Given the description of an element on the screen output the (x, y) to click on. 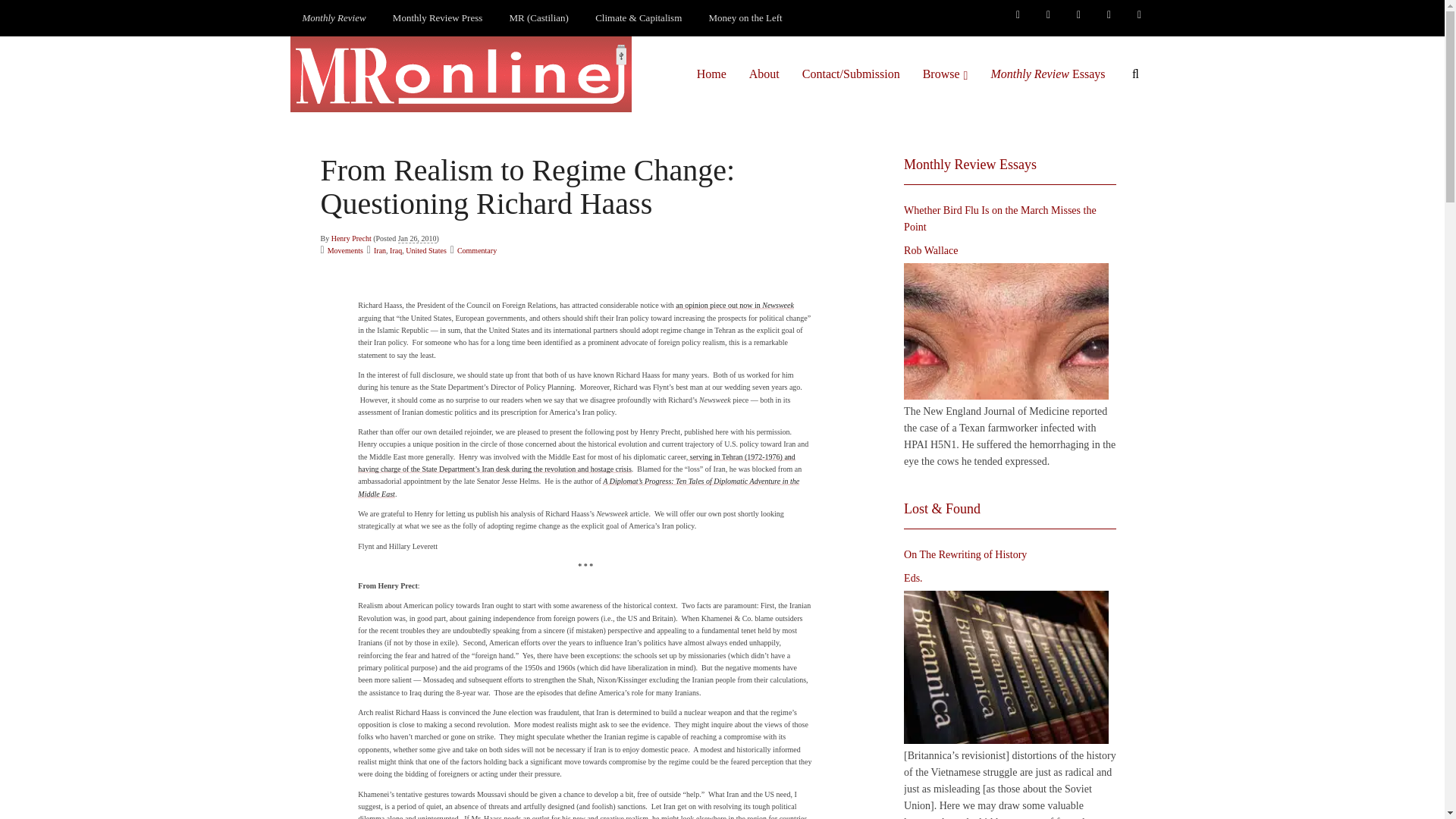
Money on the Left (745, 18)
Monthly Review (333, 18)
Posts by Eds. (913, 578)
Browse (945, 74)
On The Rewriting of History (1006, 666)
Monthly Review Magazine (333, 18)
Monthly Review Press (437, 18)
Posts by Rob Wallace (931, 250)
Whether Bird Flu Is on the March Misses the Point (1006, 330)
